Given the description of an element on the screen output the (x, y) to click on. 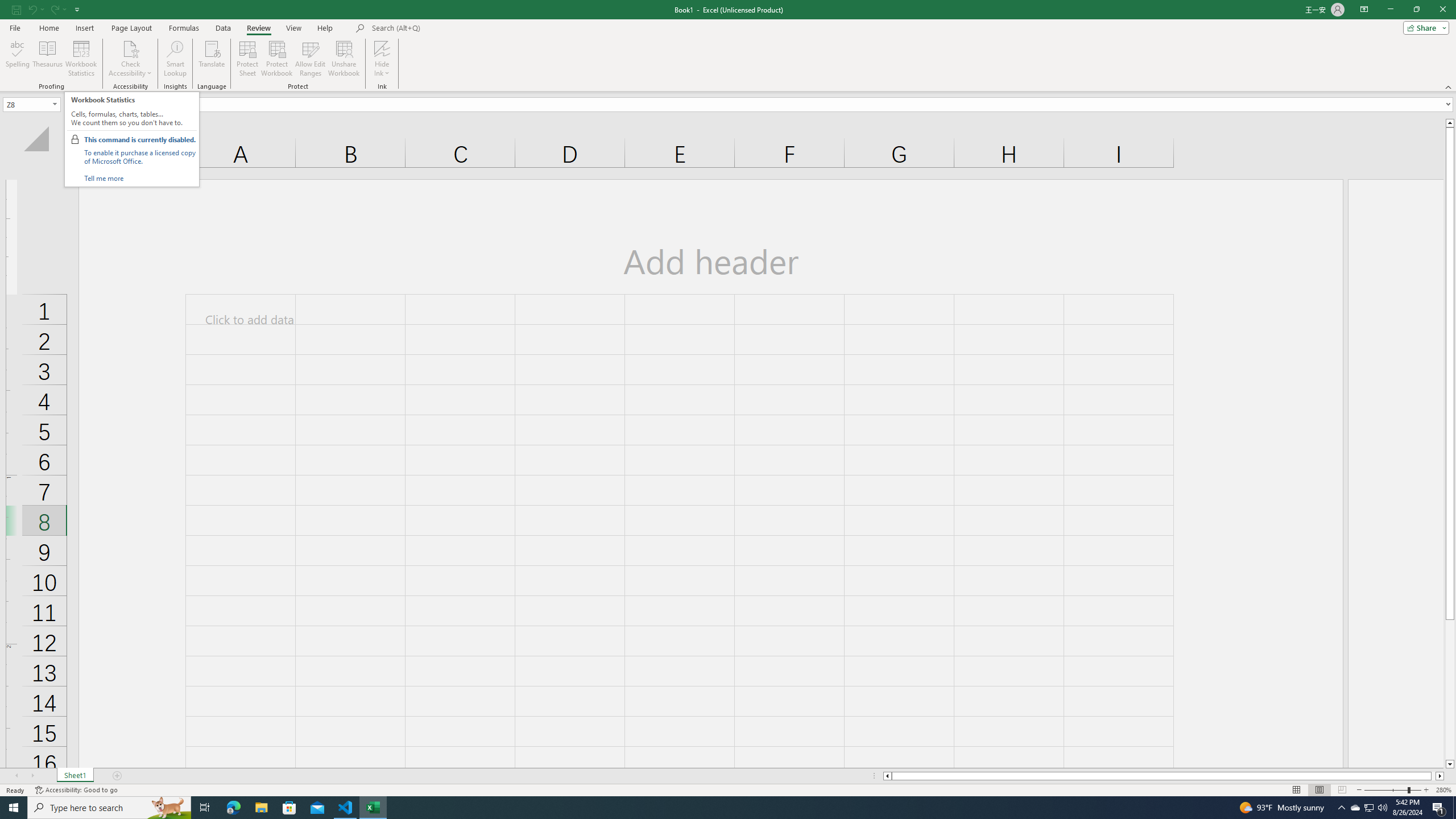
Thesaurus... (47, 58)
